Given the description of an element on the screen output the (x, y) to click on. 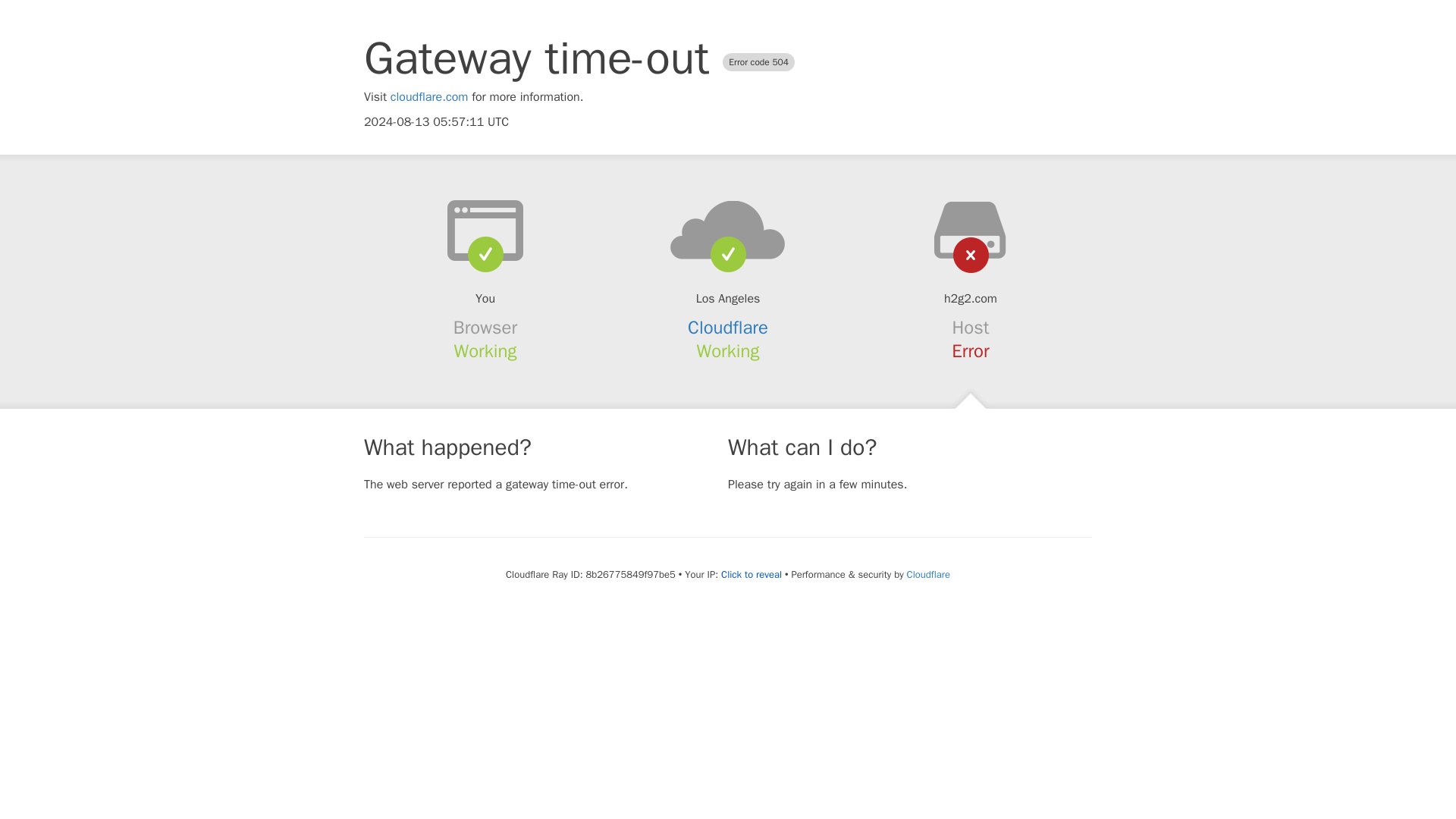
Cloudflare (928, 574)
Click to reveal (750, 574)
Cloudflare (727, 327)
cloudflare.com (429, 96)
